Given the description of an element on the screen output the (x, y) to click on. 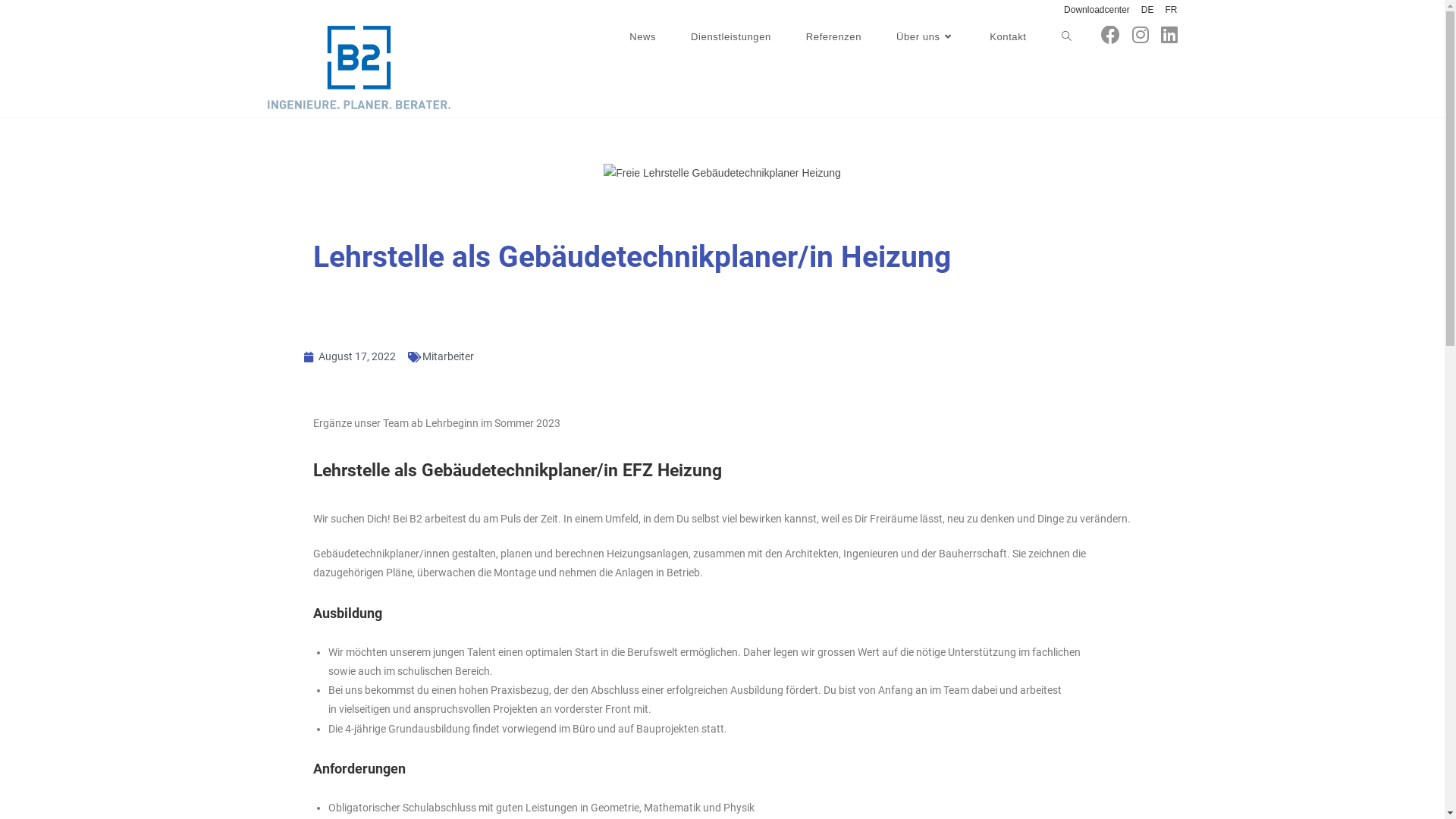
DE Element type: text (1147, 10)
News Element type: text (642, 36)
FR Element type: text (1170, 10)
Mitarbeiter Element type: text (447, 356)
August 17, 2022 Element type: text (349, 356)
Referenzen Element type: text (833, 36)
Dienstleistungen Element type: text (730, 36)
Downloadcenter Element type: text (1096, 10)
Kontakt Element type: text (1007, 36)
